Given the description of an element on the screen output the (x, y) to click on. 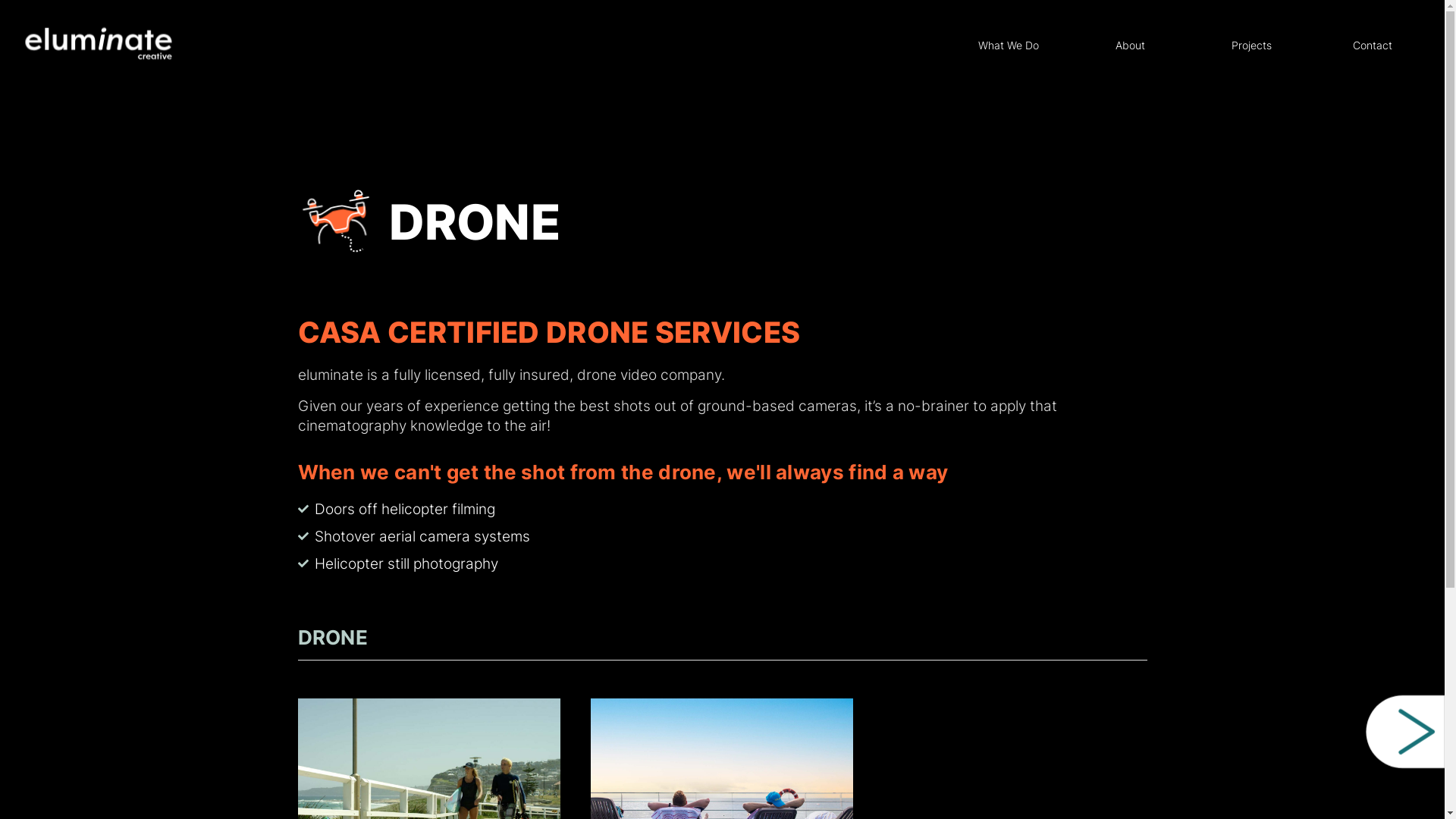
What We Do Element type: text (1008, 45)
Contact Element type: text (1372, 45)
Projects Element type: text (1251, 45)
About Element type: text (1129, 45)
